Given the description of an element on the screen output the (x, y) to click on. 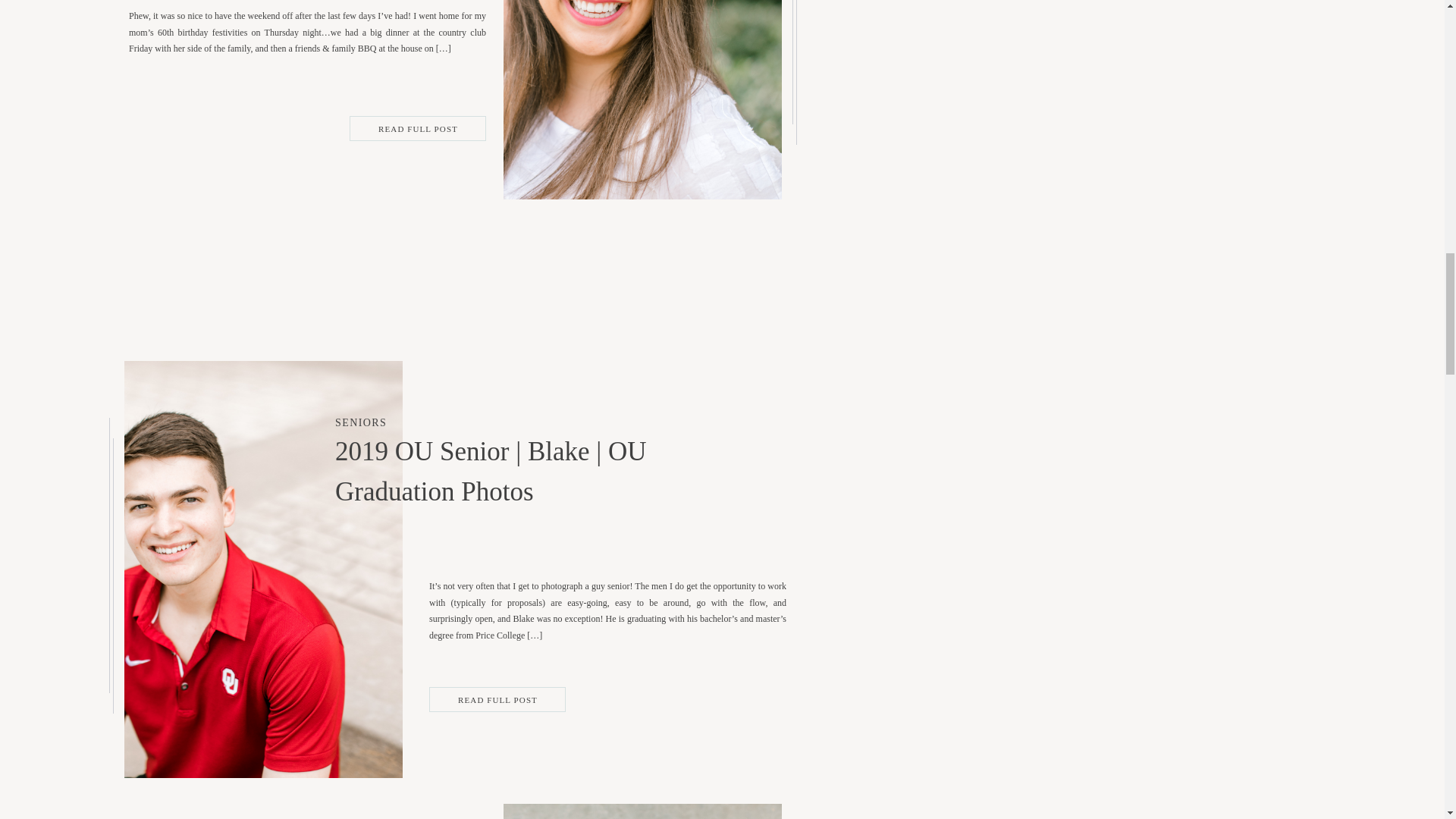
READ FULL POST (418, 128)
SENIORS (360, 422)
READ FULL POST (497, 699)
